Given the description of an element on the screen output the (x, y) to click on. 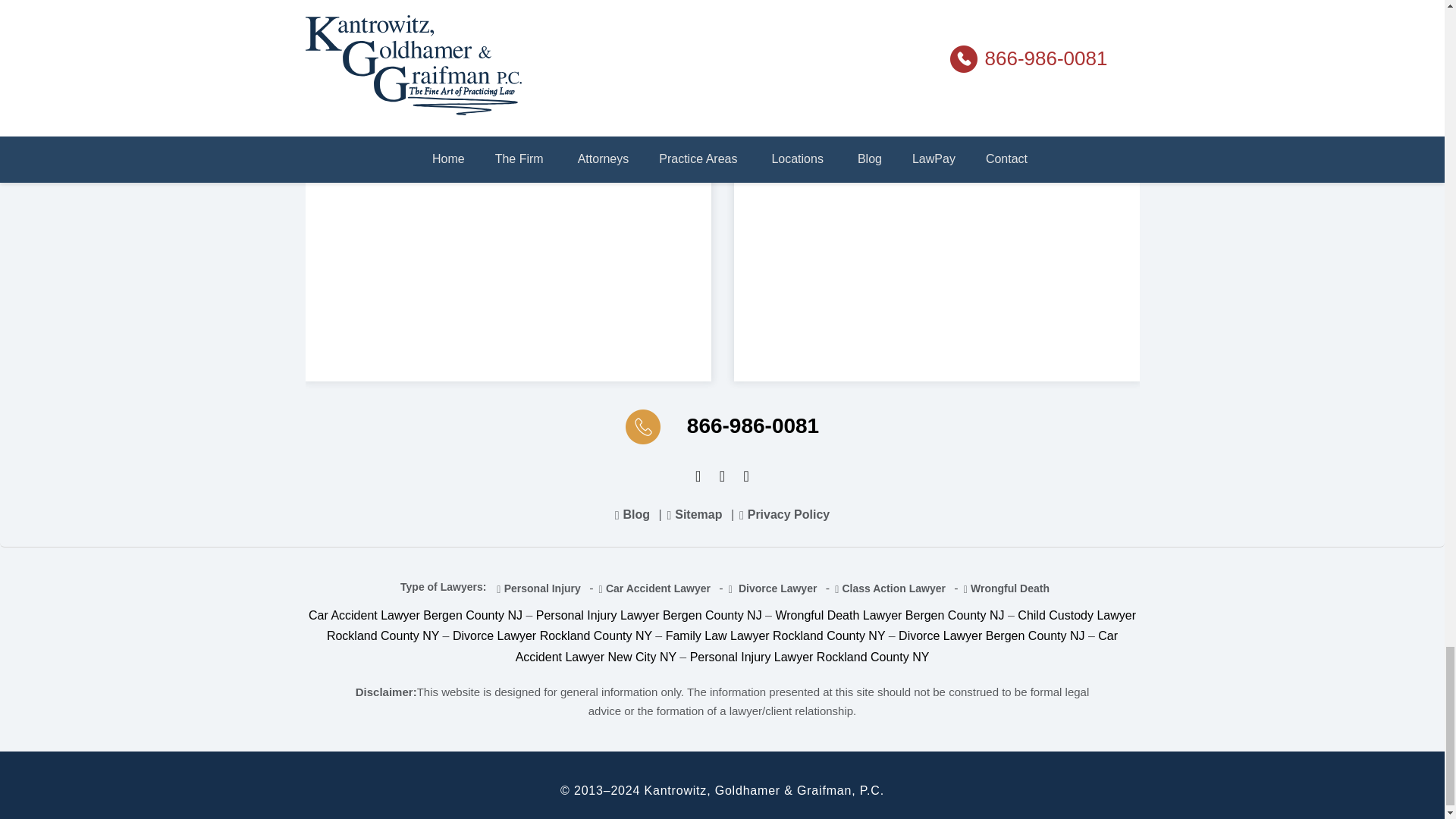
map of rockland county location (507, 181)
map of bergen county location (936, 181)
